Given the description of an element on the screen output the (x, y) to click on. 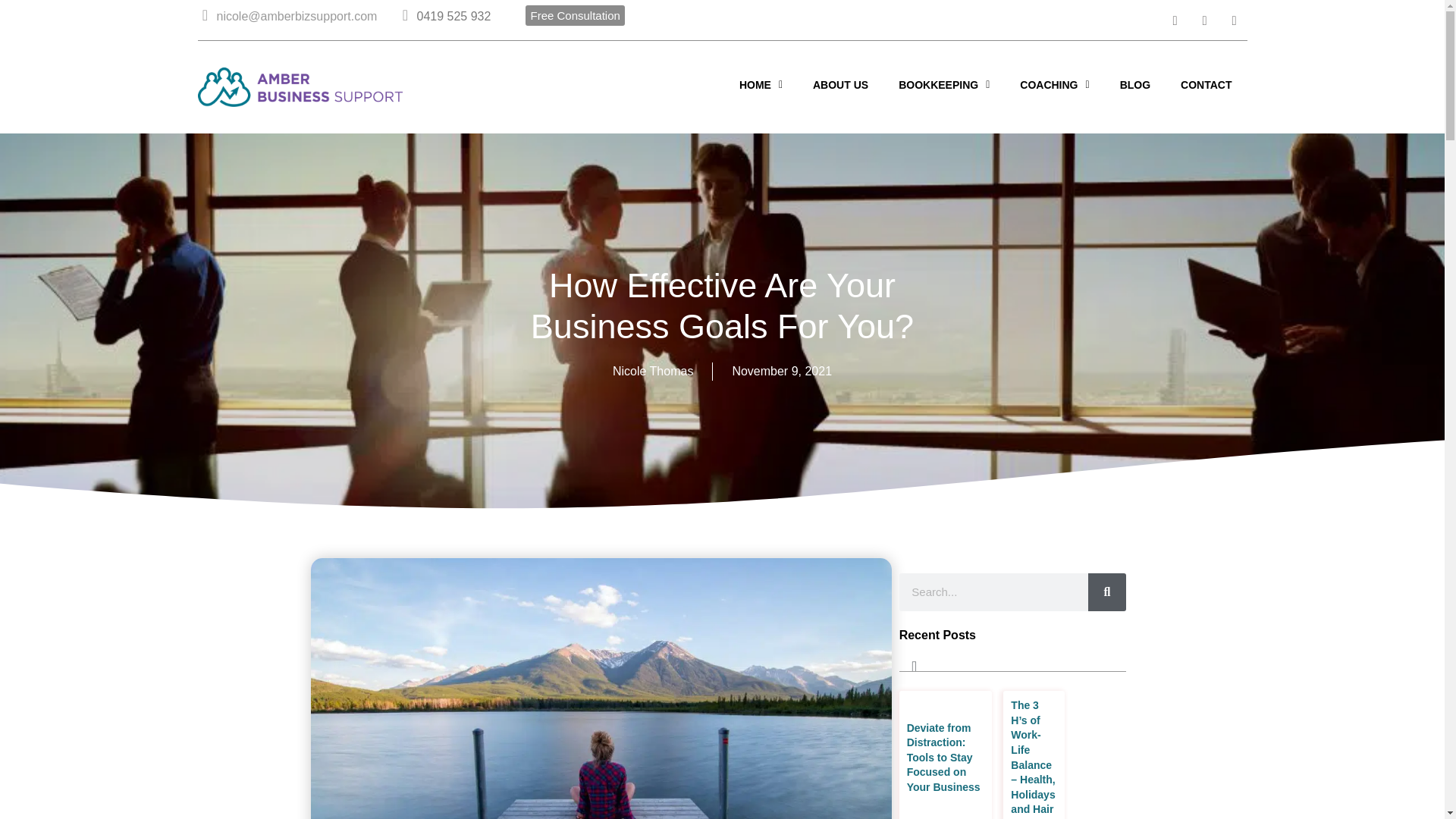
Free Consultation (574, 14)
